Given the description of an element on the screen output the (x, y) to click on. 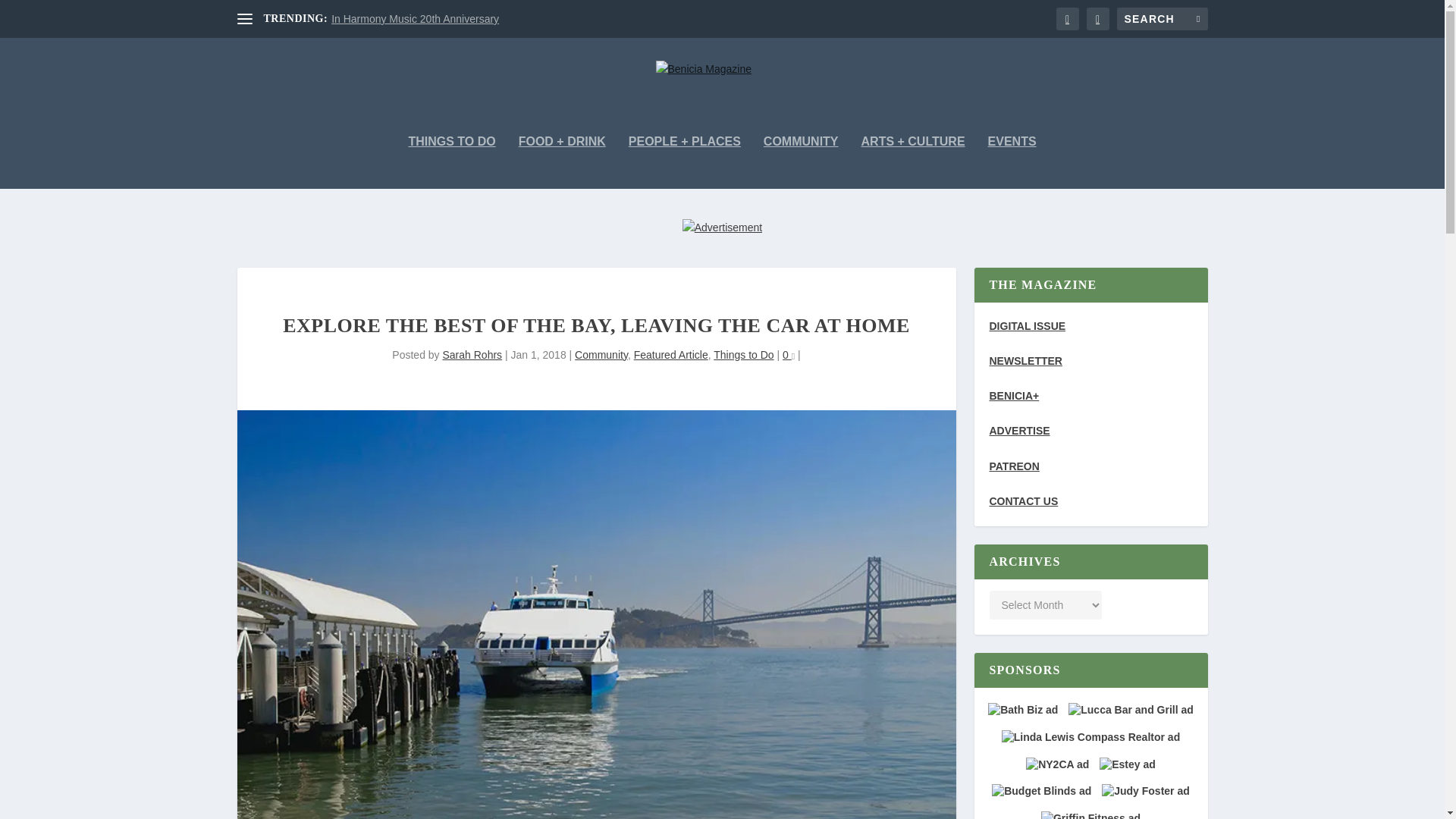
Featured Article (670, 354)
THINGS TO DO (451, 162)
Community (601, 354)
0 (788, 354)
Sarah Rohrs (472, 354)
Posts by Sarah Rohrs (472, 354)
EVENTS (1012, 162)
In Harmony Music 20th Anniversary (415, 19)
COMMUNITY (800, 162)
Search for: (1161, 18)
